Given the description of an element on the screen output the (x, y) to click on. 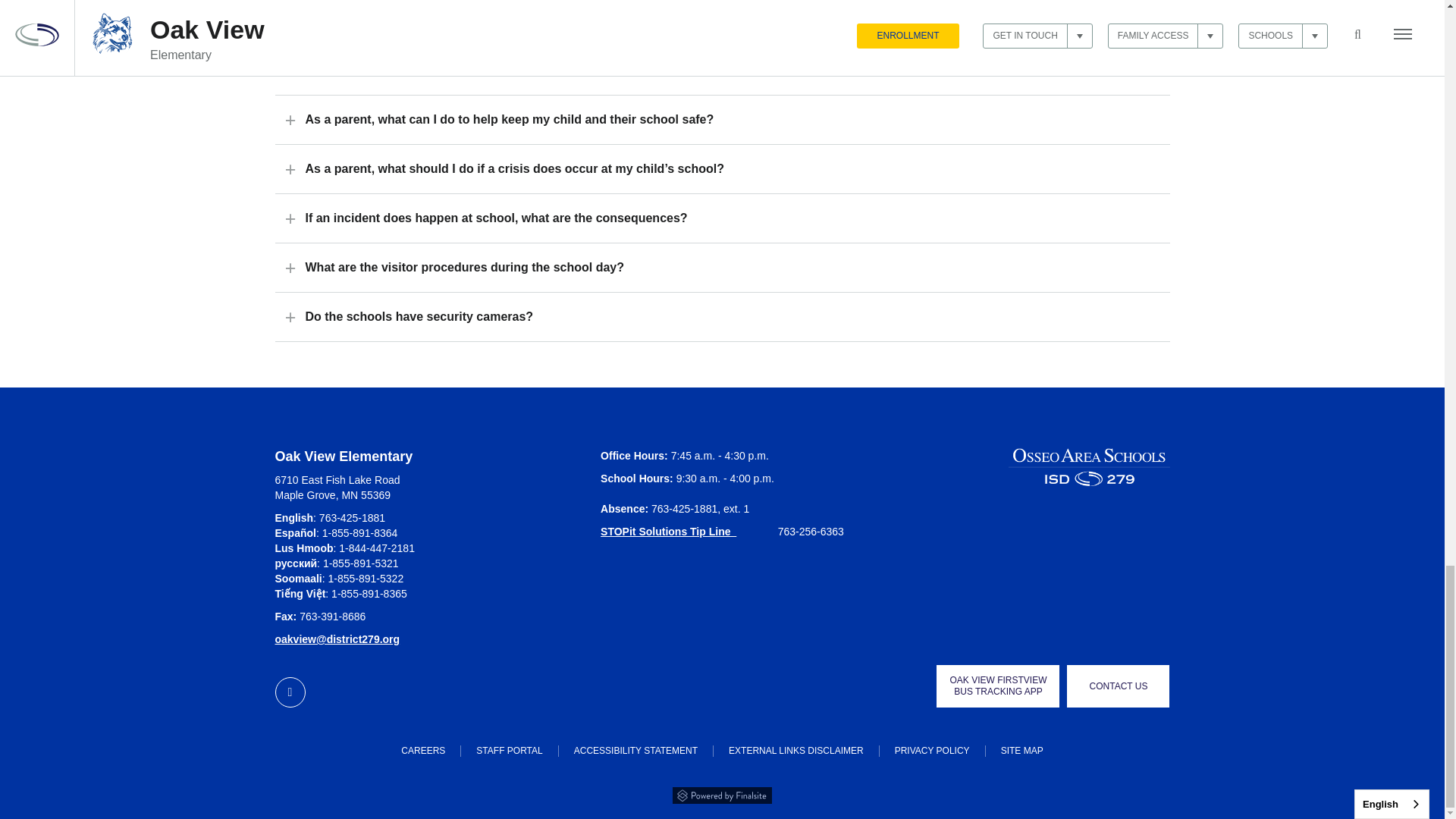
Powered by Finalsite opens in a new window (721, 793)
ISD 279 - Osseo Area Schools (1089, 466)
